Given the description of an element on the screen output the (x, y) to click on. 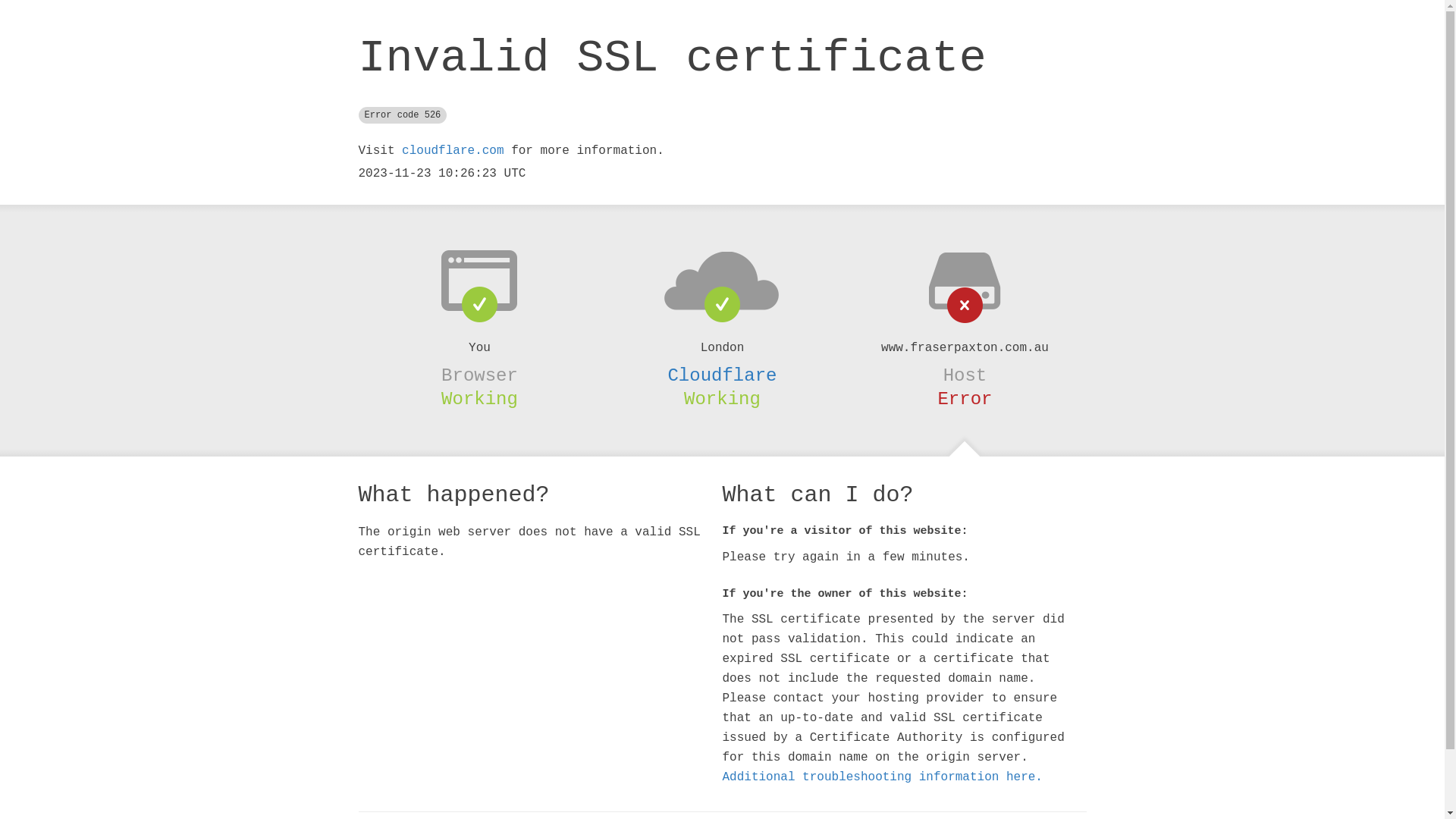
cloudflare.com Element type: text (452, 150)
Additional troubleshooting information here. Element type: text (881, 777)
Cloudflare Element type: text (721, 375)
